Given the description of an element on the screen output the (x, y) to click on. 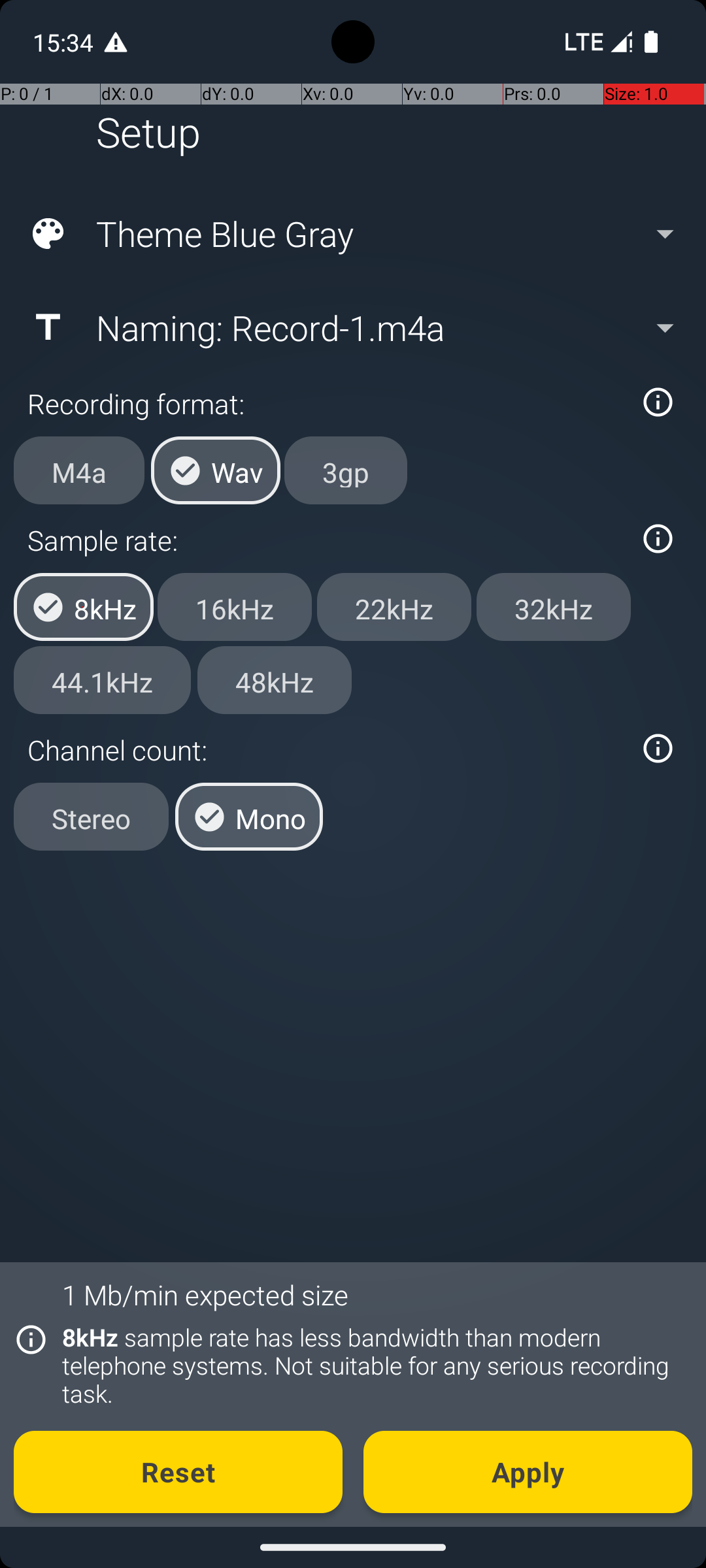
8kHz sample rate has less bandwidth than modern telephone systems. Not suitable for any serious recording task. Element type: android.widget.TextView (370, 1364)
